Given the description of an element on the screen output the (x, y) to click on. 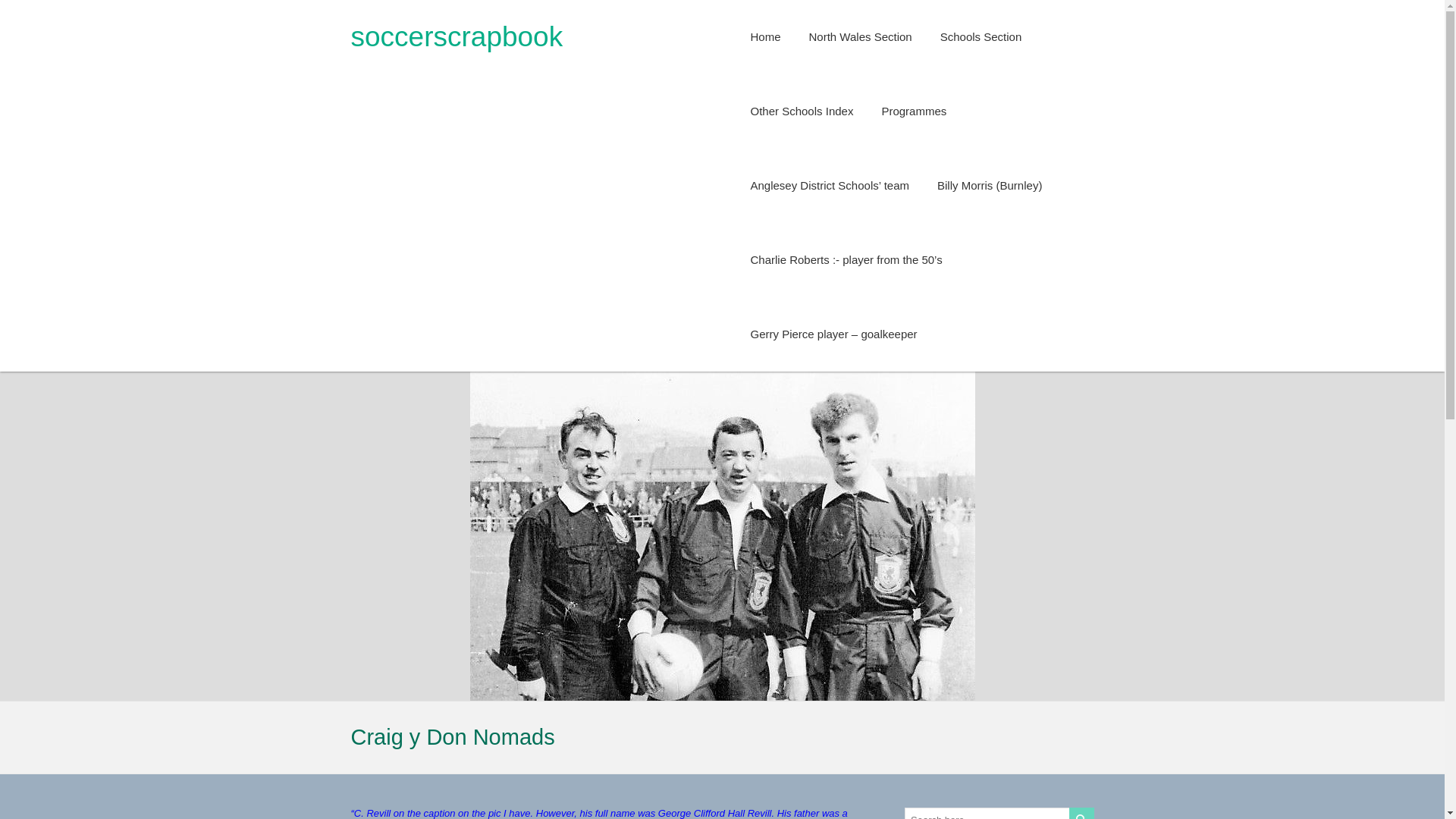
North Wales Section (860, 37)
soccerscrapbook (456, 36)
Schools Section (981, 37)
Other Schools Index (802, 111)
Home (765, 37)
Programmes (913, 111)
